Given the description of an element on the screen output the (x, y) to click on. 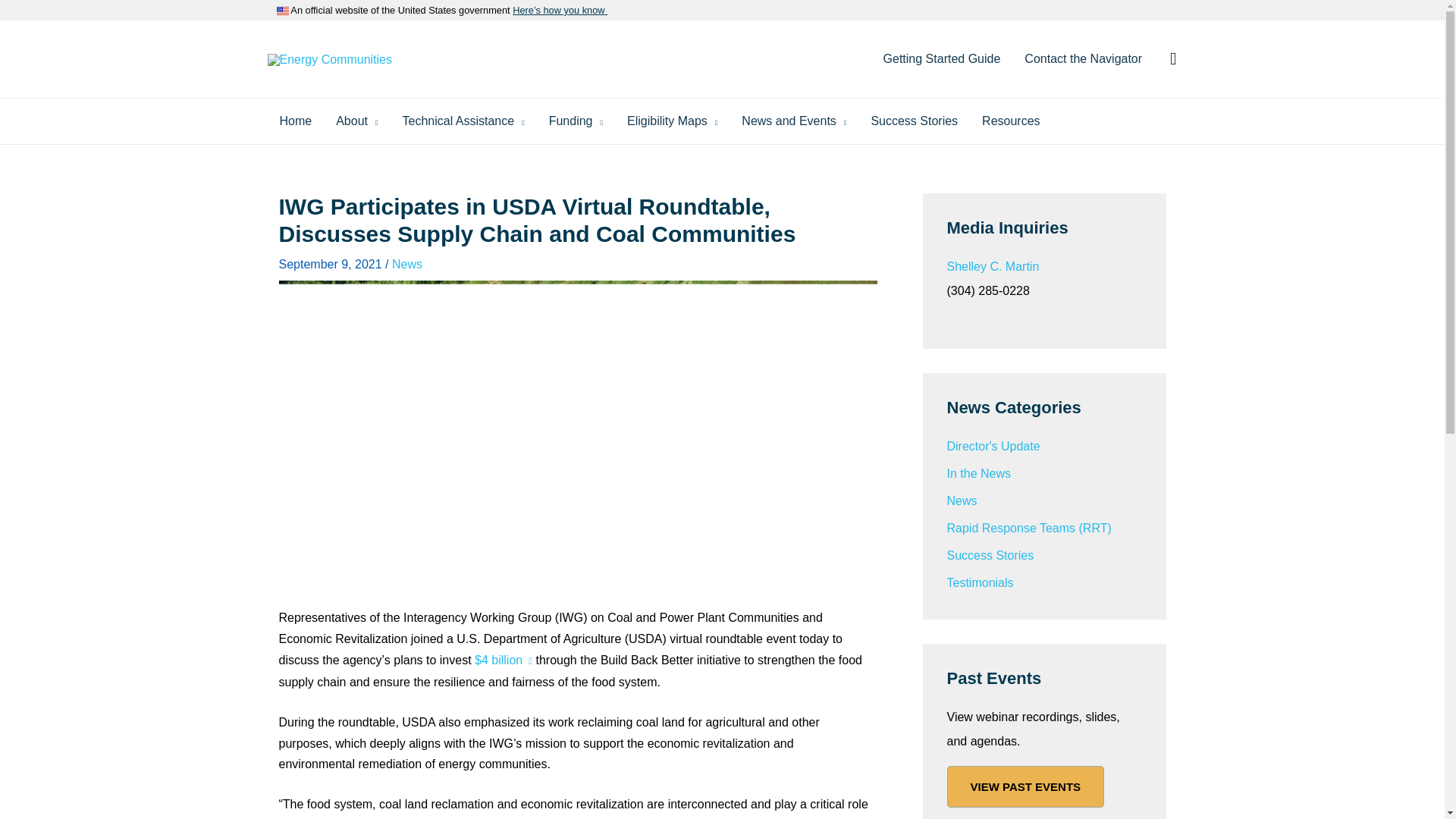
Contact the Navigator (1082, 58)
Getting Started Guide (941, 58)
Eligibility Maps (671, 121)
Funding (575, 121)
About (356, 121)
Technical Assistance (463, 121)
News and Events (794, 121)
Resources (1010, 121)
Success Stories (914, 121)
Home (294, 121)
